Given the description of an element on the screen output the (x, y) to click on. 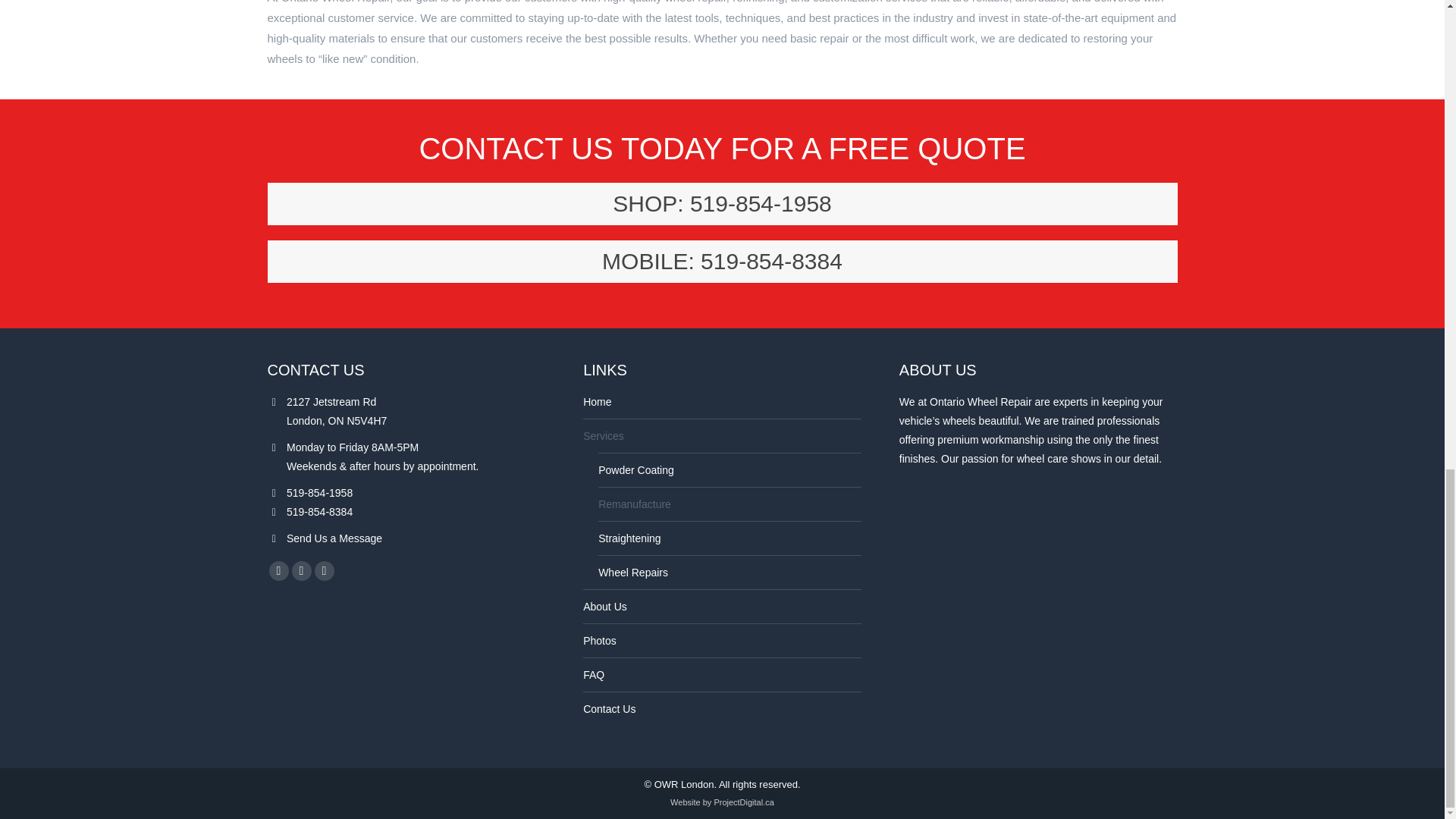
Instagram page opens in new window (323, 570)
Twitter page opens in new window (301, 570)
519-854-8384 (721, 261)
Facebook page opens in new window (277, 570)
519-854-1958 (721, 203)
